Given the description of an element on the screen output the (x, y) to click on. 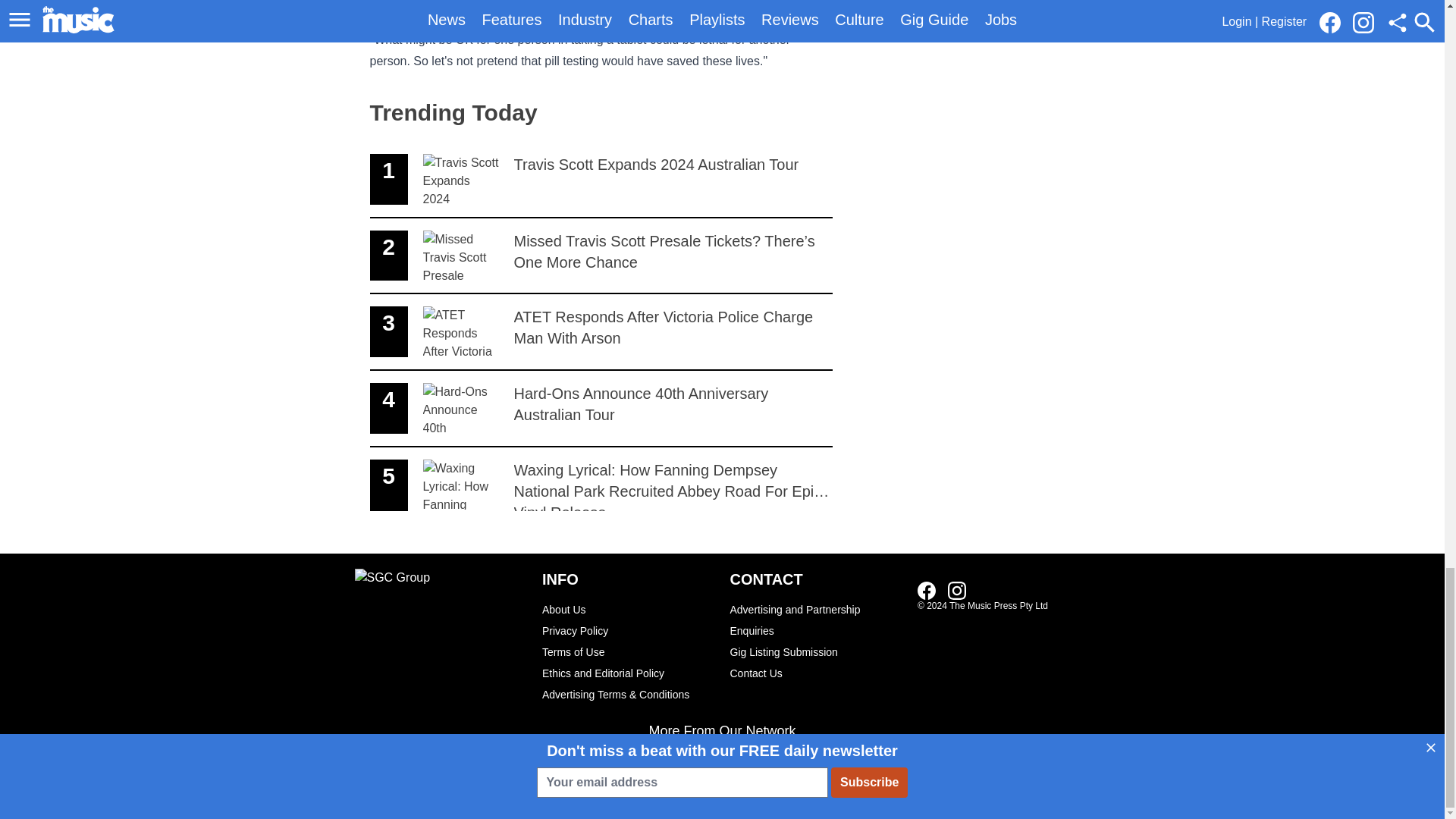
Link to our Facebook (926, 590)
Link to our Instagram (600, 332)
About Us (956, 590)
